Given the description of an element on the screen output the (x, y) to click on. 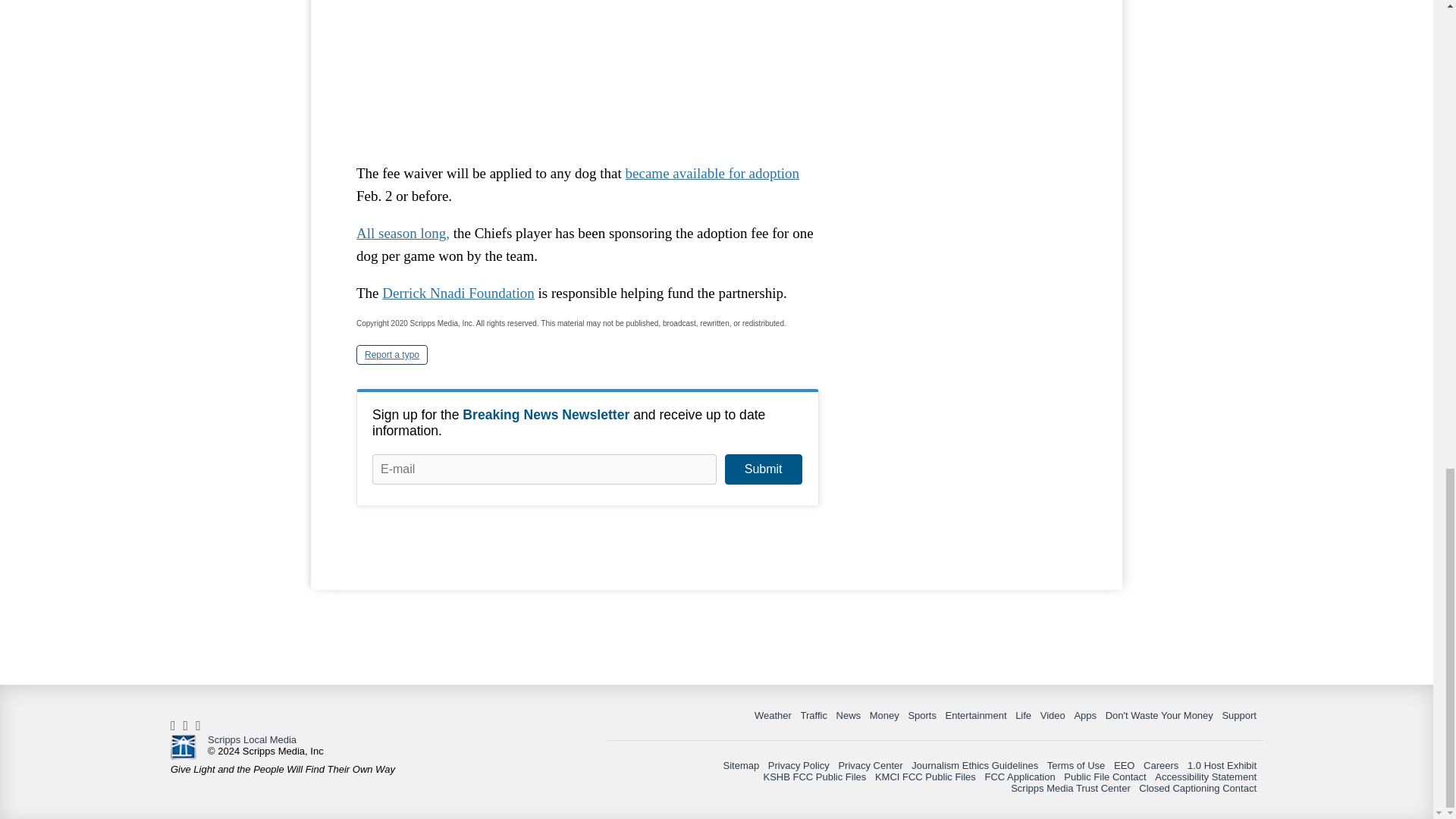
Submit (763, 469)
